Given the description of an element on the screen output the (x, y) to click on. 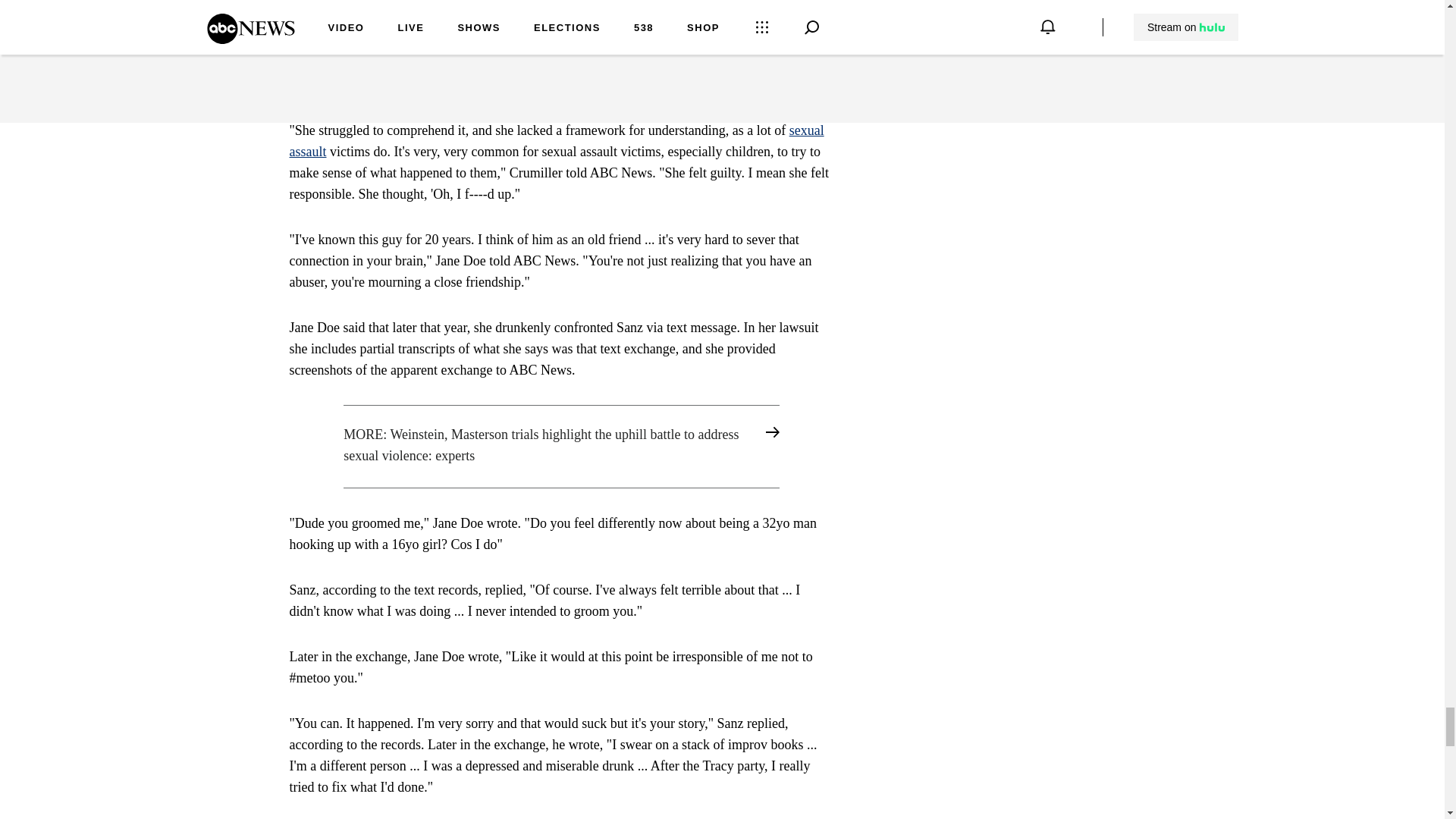
sexual assault (556, 140)
